Given the description of an element on the screen output the (x, y) to click on. 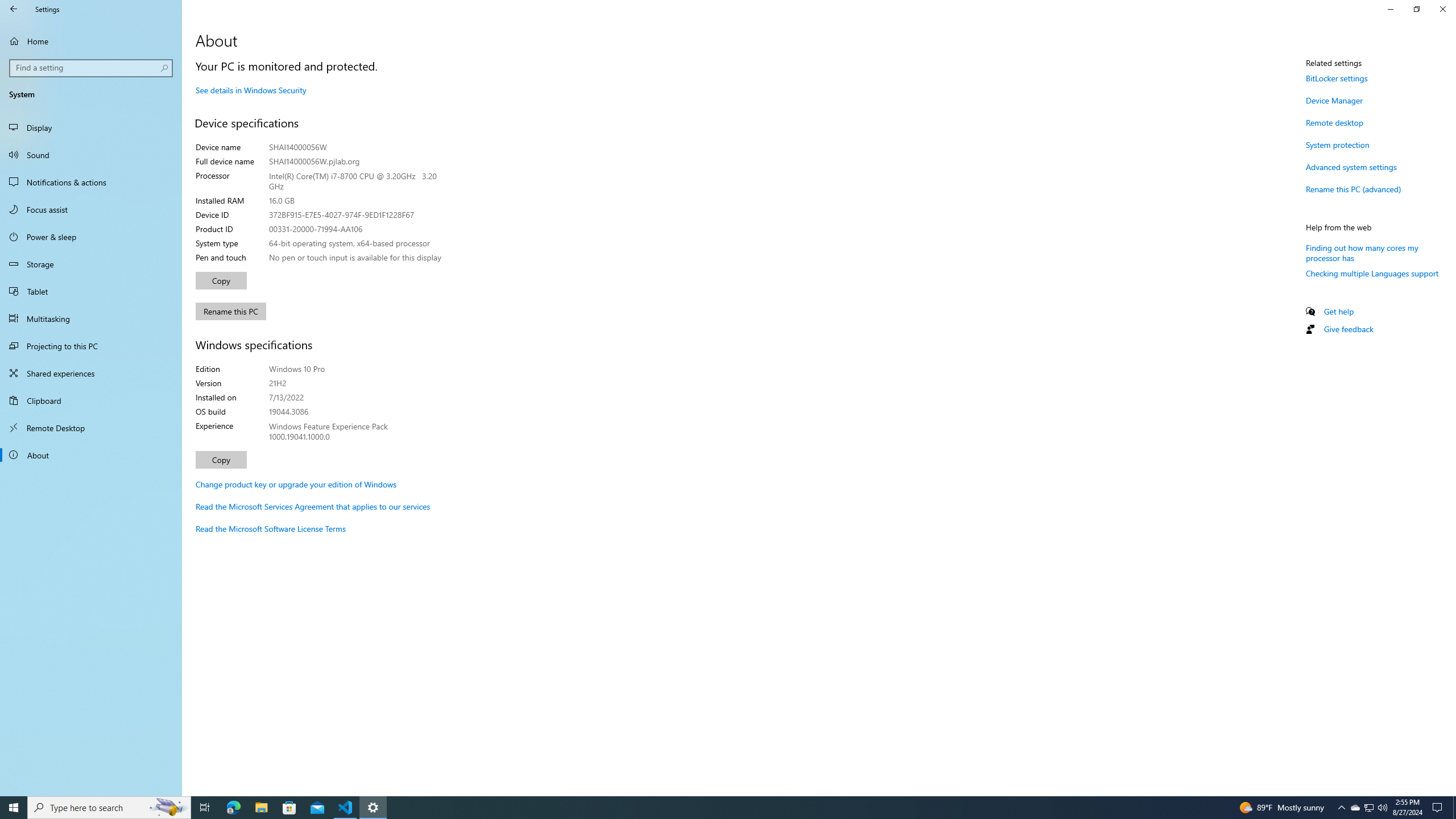
Shared experiences (91, 372)
Settings - 1 running window (373, 807)
Running applications (717, 807)
Home (91, 40)
Rename this PC (230, 311)
Finding out how many cores my processor has (1362, 252)
About (91, 454)
Power & sleep (91, 236)
Minimize Settings (1390, 9)
Back (13, 9)
